Given the description of an element on the screen output the (x, y) to click on. 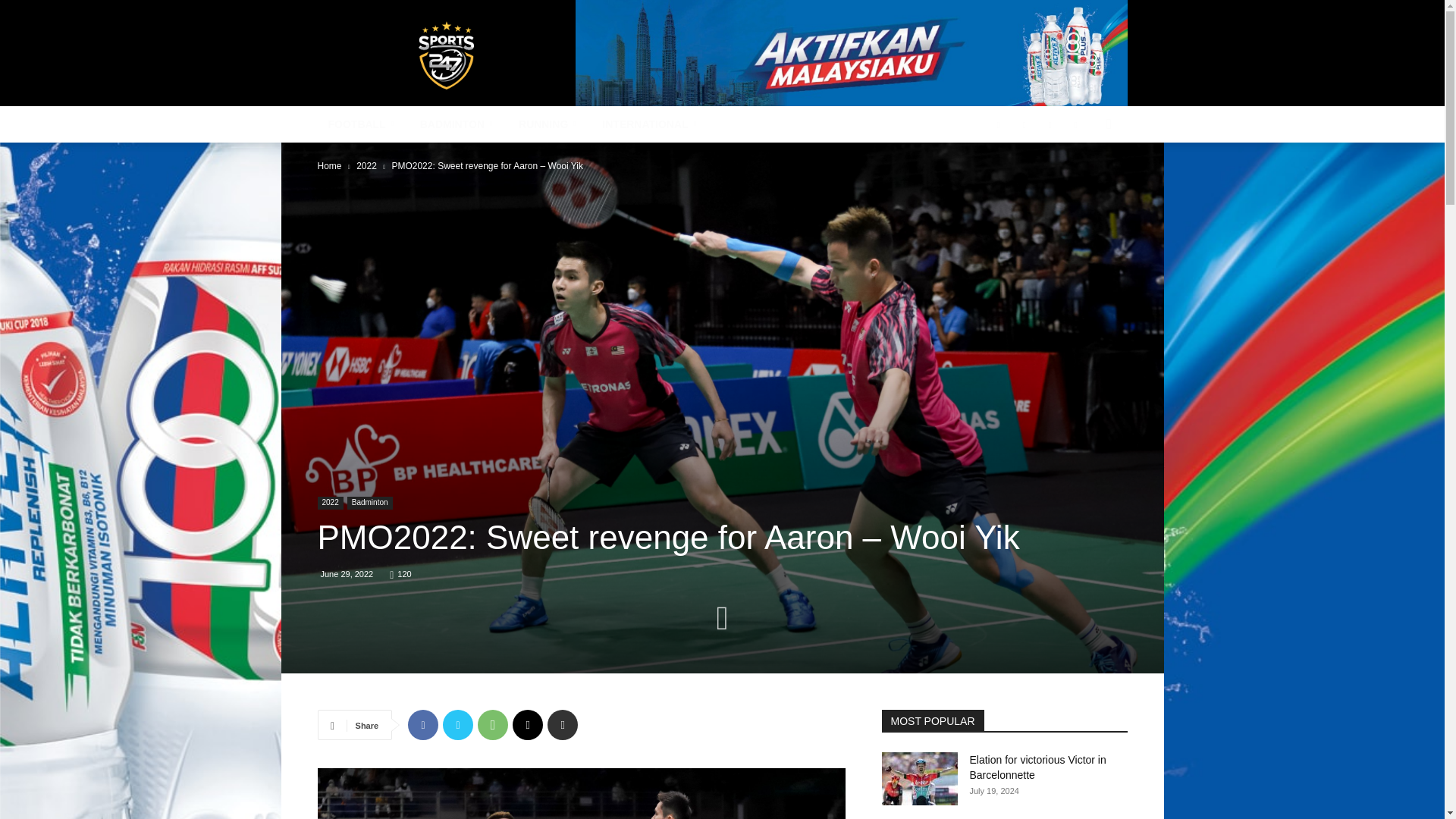
FOOTBALL (363, 124)
Sports247.my (446, 55)
BADMINTON (458, 124)
